Given the description of an element on the screen output the (x, y) to click on. 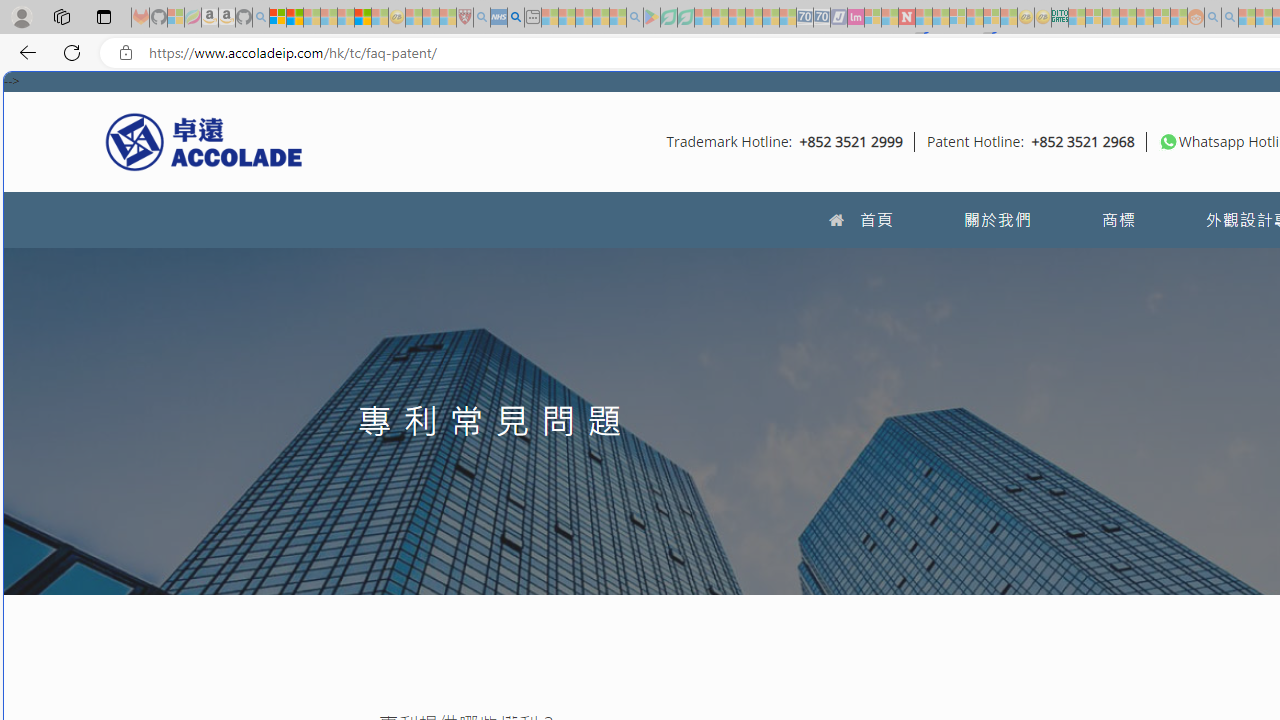
utah sues federal government - Search (515, 17)
